Given the description of an element on the screen output the (x, y) to click on. 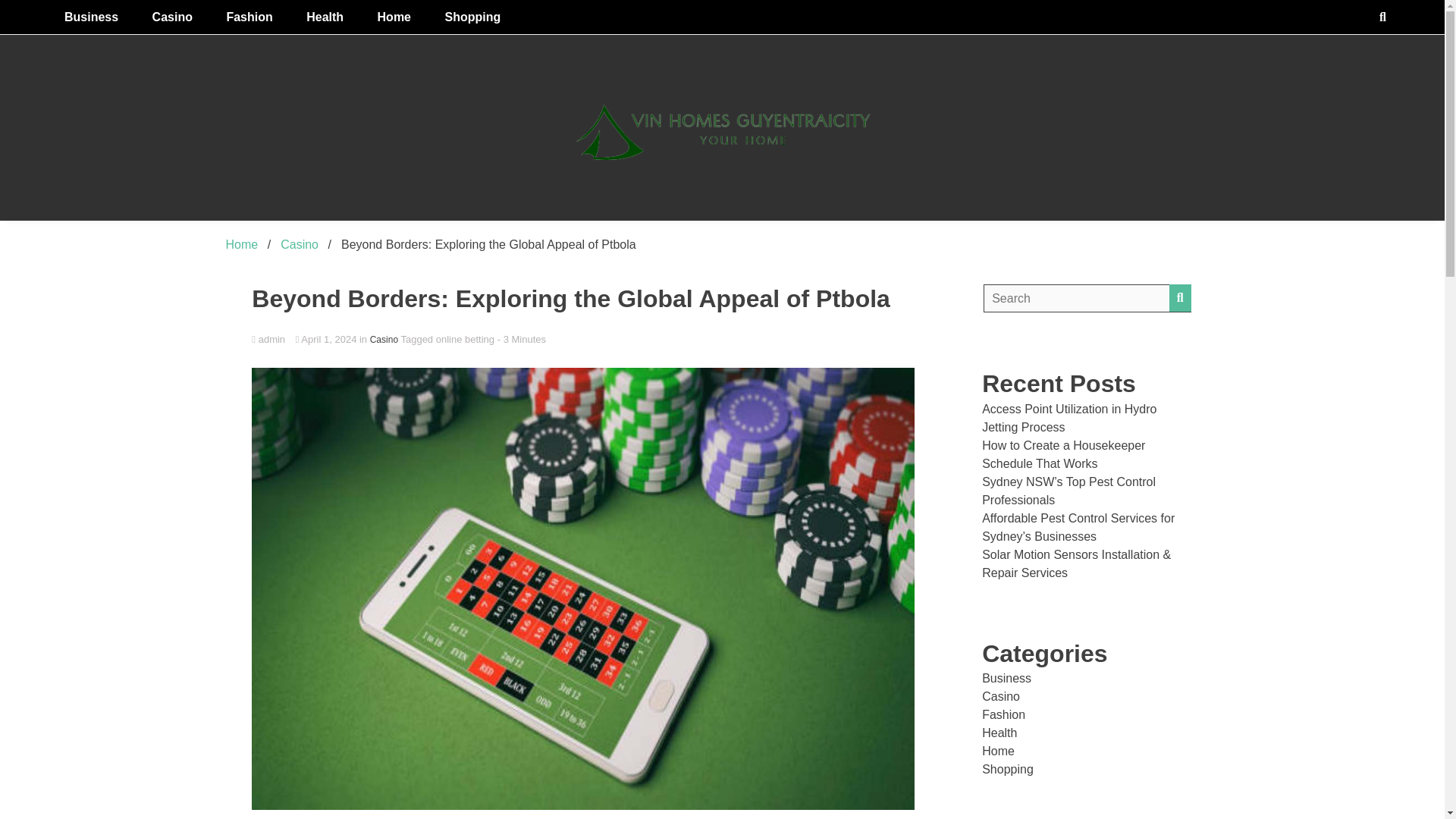
online betting (465, 338)
Estimated Reading Time of Article (521, 338)
Casino (299, 244)
admin (582, 339)
Access Point Utilization in Hydro Jetting Process (1068, 418)
Fashion (248, 17)
How to Create a Housekeeper Schedule That Works (1062, 454)
Health (324, 17)
Business (91, 17)
April 1, 2024 (327, 338)
Business (1005, 677)
Home (394, 17)
Casino (383, 339)
Shopping (472, 17)
